Given the description of an element on the screen output the (x, y) to click on. 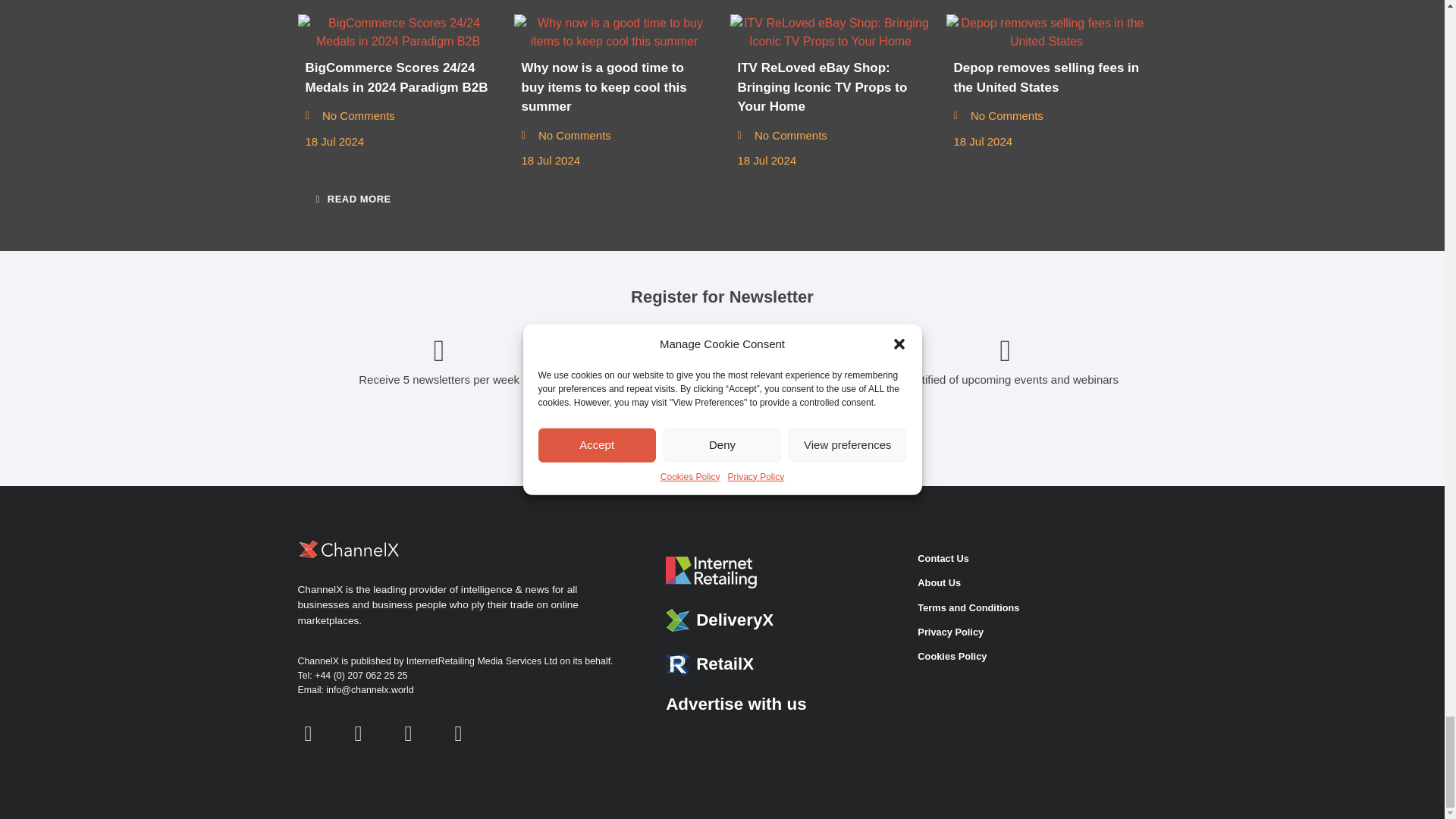
ITV ReLoved eBay Shop: Bringing Iconic TV Props to Your Home (829, 32)
Why now is a good time to buy items to keep cool this summer (613, 32)
BigCommerce Scores 24 out of 24 Medals in 2024 Paradigm B2B (397, 32)
Depop removes selling fees in the United States (1046, 32)
